Given the description of an element on the screen output the (x, y) to click on. 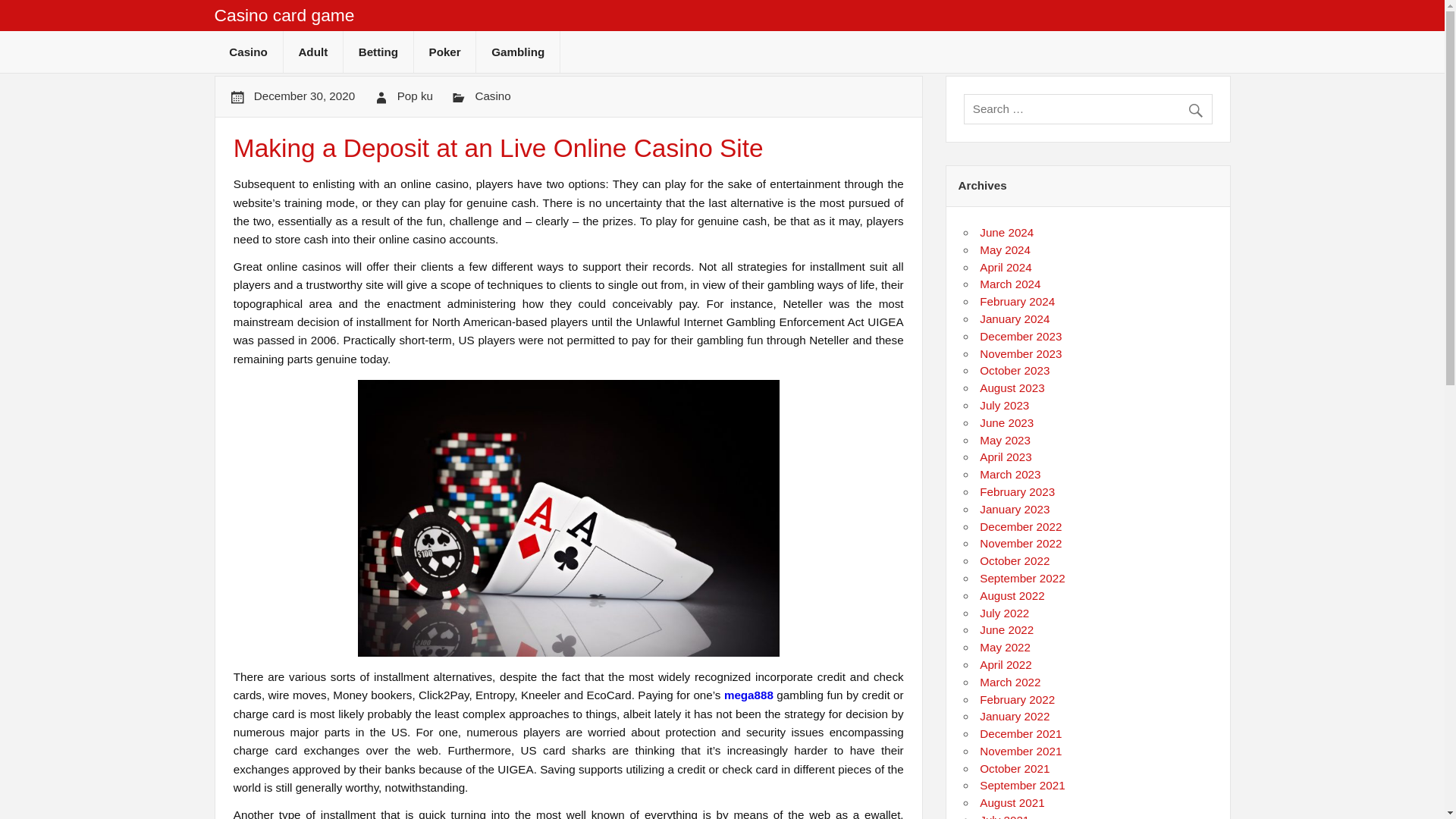
8:17 am (304, 95)
Casino card game (283, 15)
November 2023 (1020, 353)
July 2022 (1004, 612)
April 2024 (1004, 267)
May 2024 (1004, 249)
April 2023 (1004, 456)
April 2022 (1004, 664)
Betting (378, 51)
August 2022 (1011, 594)
Gambling (517, 51)
Pop ku (414, 95)
Adult (312, 51)
Casino card game (283, 15)
October 2023 (1014, 369)
